Given the description of an element on the screen output the (x, y) to click on. 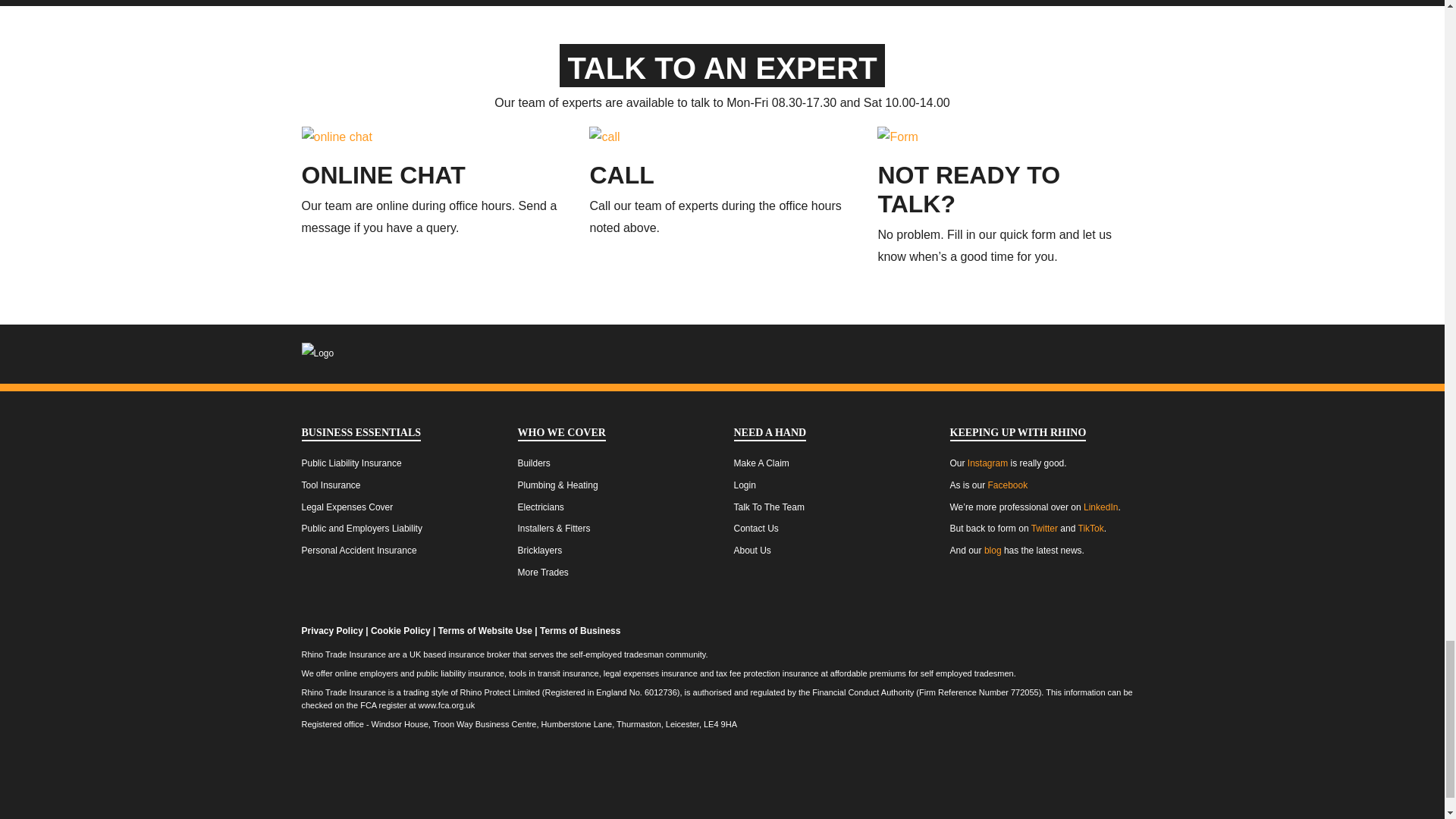
Not Ready To Buy (968, 189)
Online (383, 175)
Not Ready To Buy (897, 135)
Phone (621, 175)
Terms of Business (580, 630)
